Given the description of an element on the screen output the (x, y) to click on. 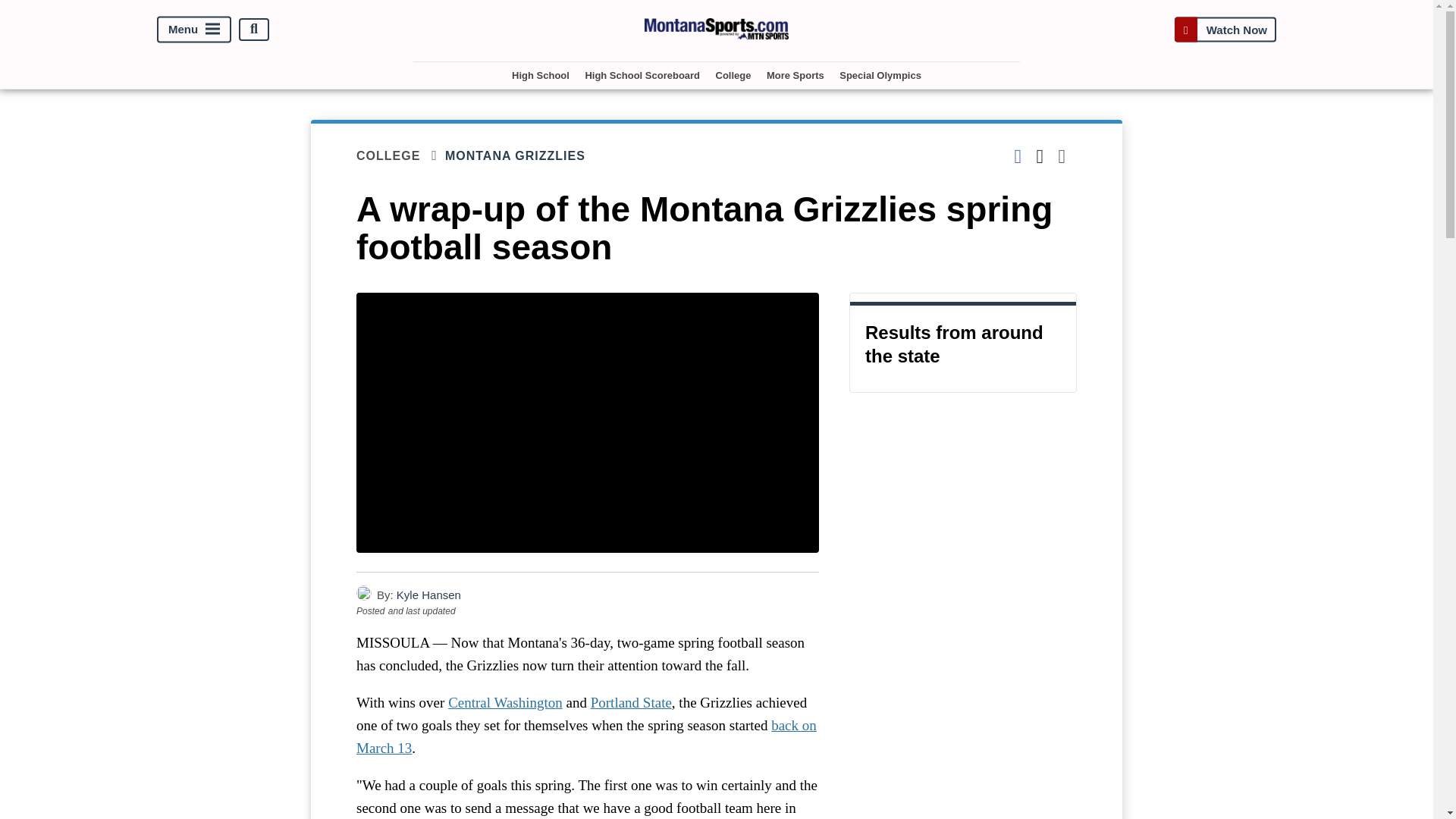
Watch Now (1224, 29)
Menu (194, 28)
